Given the description of an element on the screen output the (x, y) to click on. 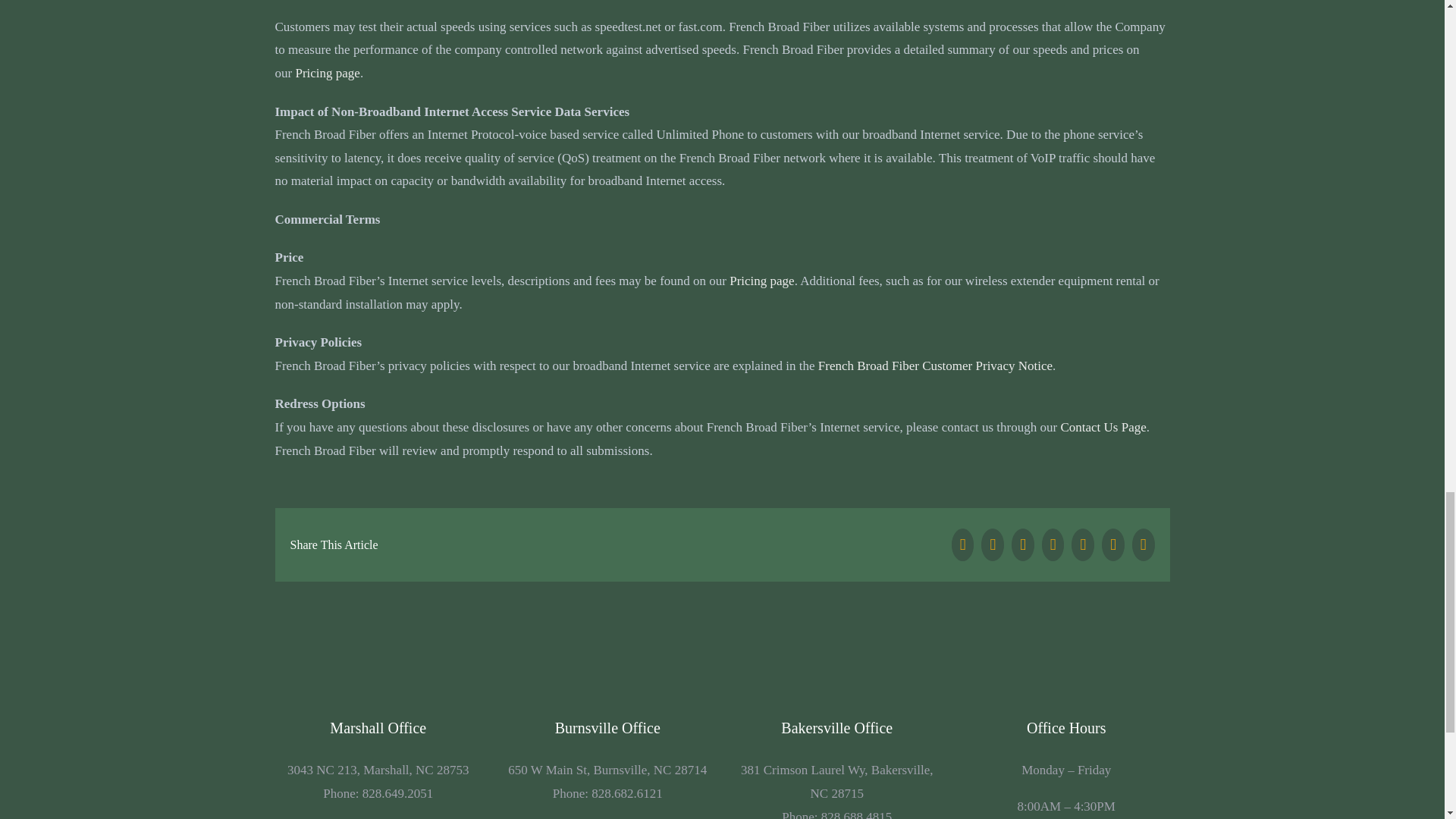
Pricing page (761, 280)
French Broad Fiber Customer Privacy Notice (935, 365)
Pricing page (327, 73)
Contact Us Page (1102, 427)
